Given the description of an element on the screen output the (x, y) to click on. 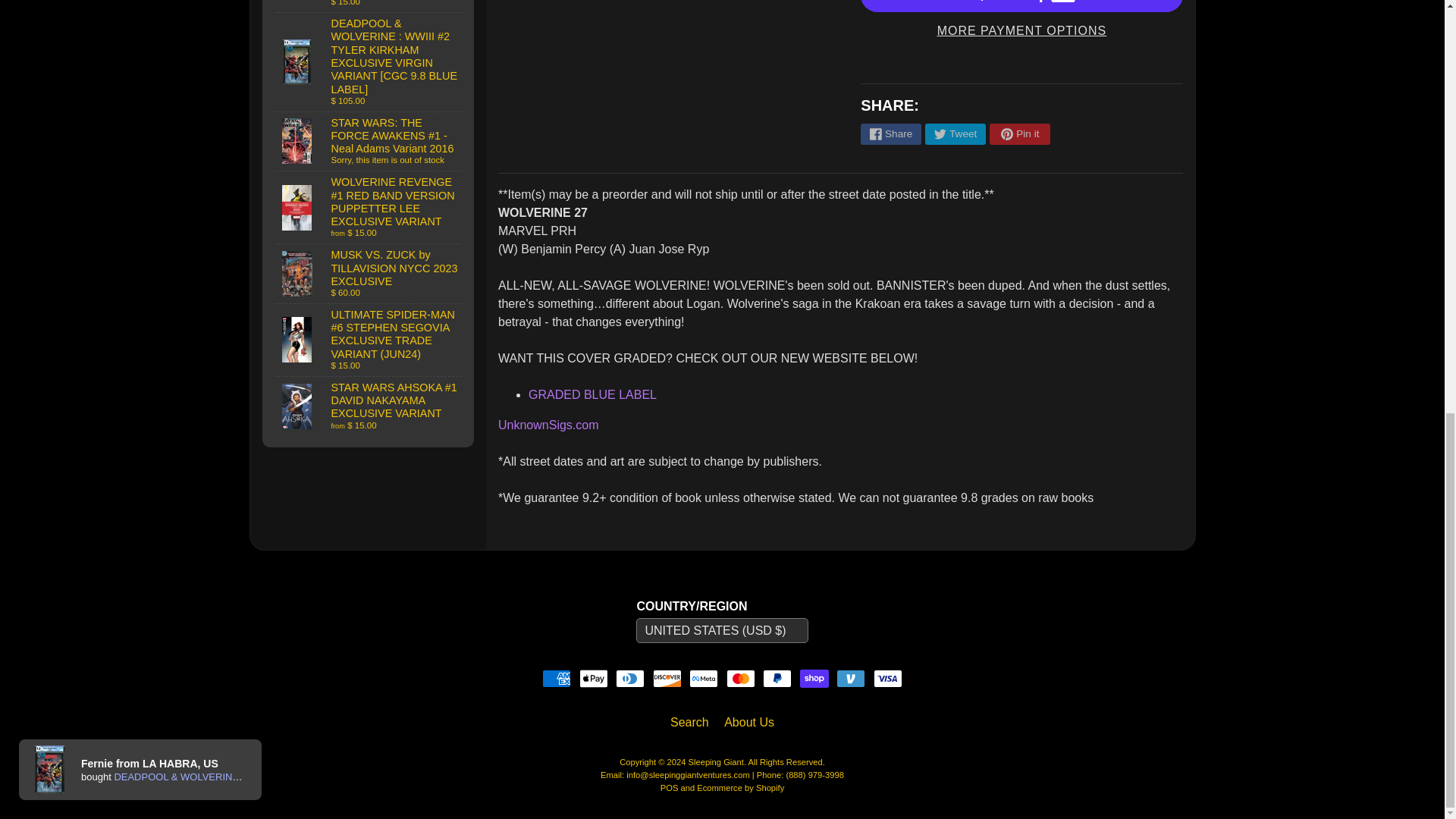
Meta Pay (702, 678)
Discover (666, 678)
MUSK VS. ZUCK by TILLAVISION NYCC 2023 EXCLUSIVE (369, 273)
Diners Club (630, 678)
American Express (555, 678)
Apple Pay (593, 678)
Venmo (849, 678)
Mastercard (740, 678)
Shop Pay (813, 678)
PayPal (777, 678)
